Given the description of an element on the screen output the (x, y) to click on. 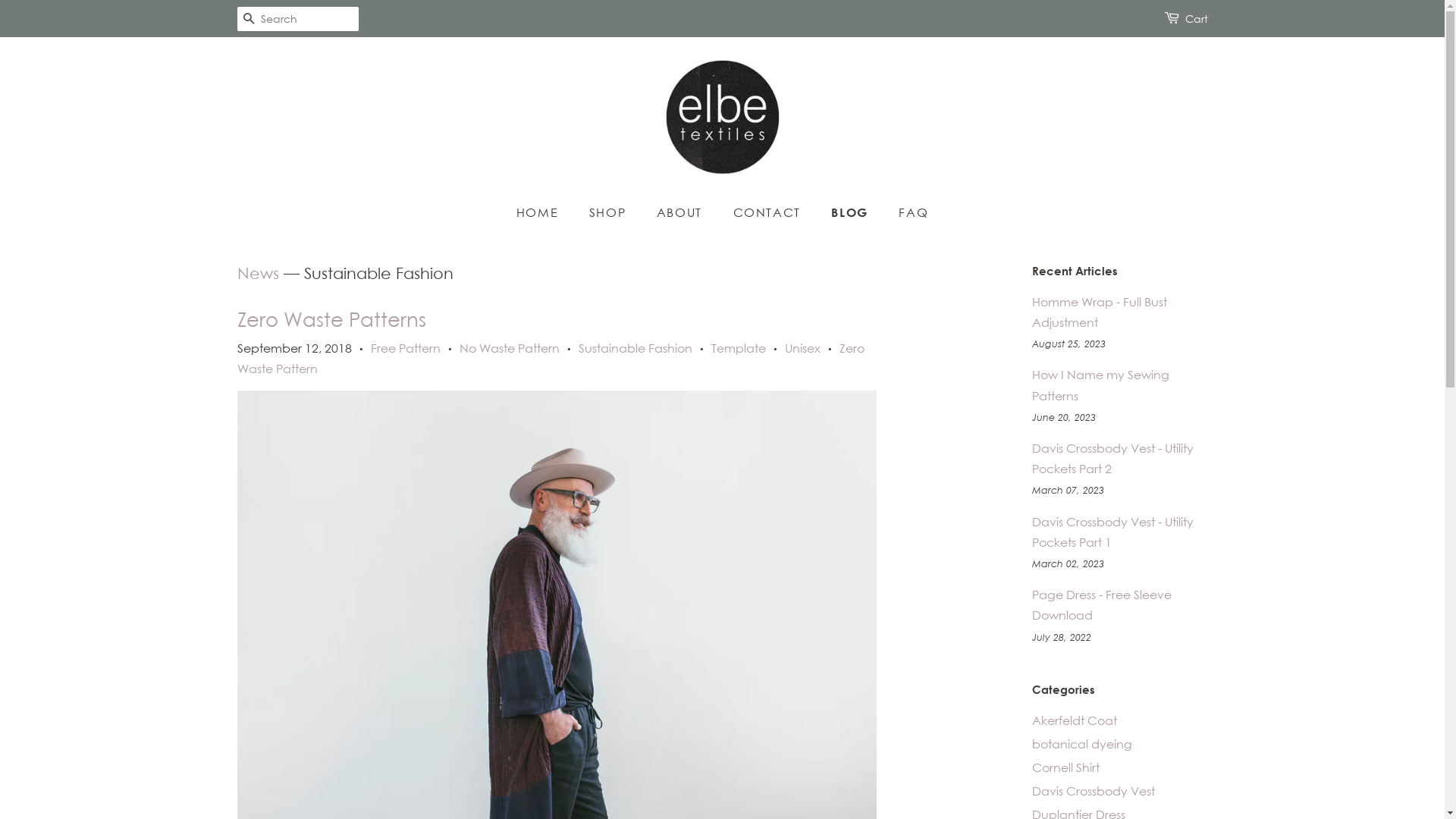
News Element type: text (257, 272)
Davis Crossbody Vest - Utility Pockets Part 2 Element type: text (1111, 458)
ABOUT Element type: text (681, 212)
Zero Waste Patterns Element type: text (330, 319)
Sustainable Fashion Element type: text (634, 347)
SEARCH Element type: text (248, 18)
No Waste Pattern Element type: text (509, 347)
botanical dyeing Element type: text (1081, 743)
BLOG Element type: text (850, 212)
Homme Wrap - Full Bust Adjustment Element type: text (1098, 311)
Page Dress - Free Sleeve Download Element type: text (1100, 604)
FAQ Element type: text (907, 212)
CONTACT Element type: text (768, 212)
SHOP Element type: text (608, 212)
Cornell Shirt Element type: text (1064, 767)
Davis Crossbody Vest - Utility Pockets Part 1 Element type: text (1111, 531)
Akerfeldt Coat Element type: text (1073, 720)
Davis Crossbody Vest Element type: text (1092, 790)
HOME Element type: text (544, 212)
How I Name my Sewing Patterns Element type: text (1099, 384)
Zero Waste Pattern Element type: text (549, 358)
Unisex Element type: text (801, 347)
Cart Element type: text (1195, 18)
Template Element type: text (738, 347)
Free Pattern Element type: text (404, 347)
